Given the description of an element on the screen output the (x, y) to click on. 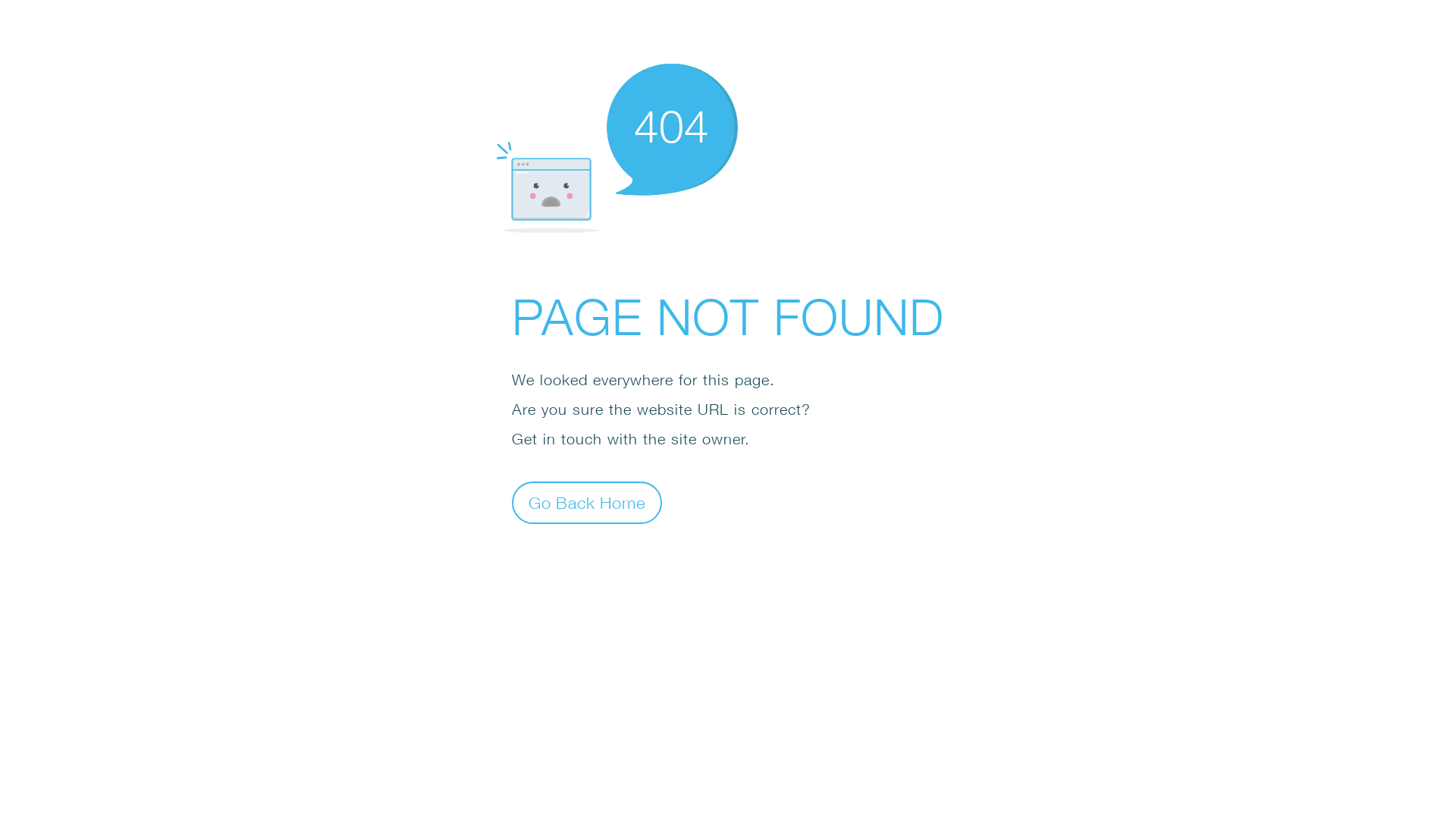
Go Back Home Element type: text (586, 502)
